Given the description of an element on the screen output the (x, y) to click on. 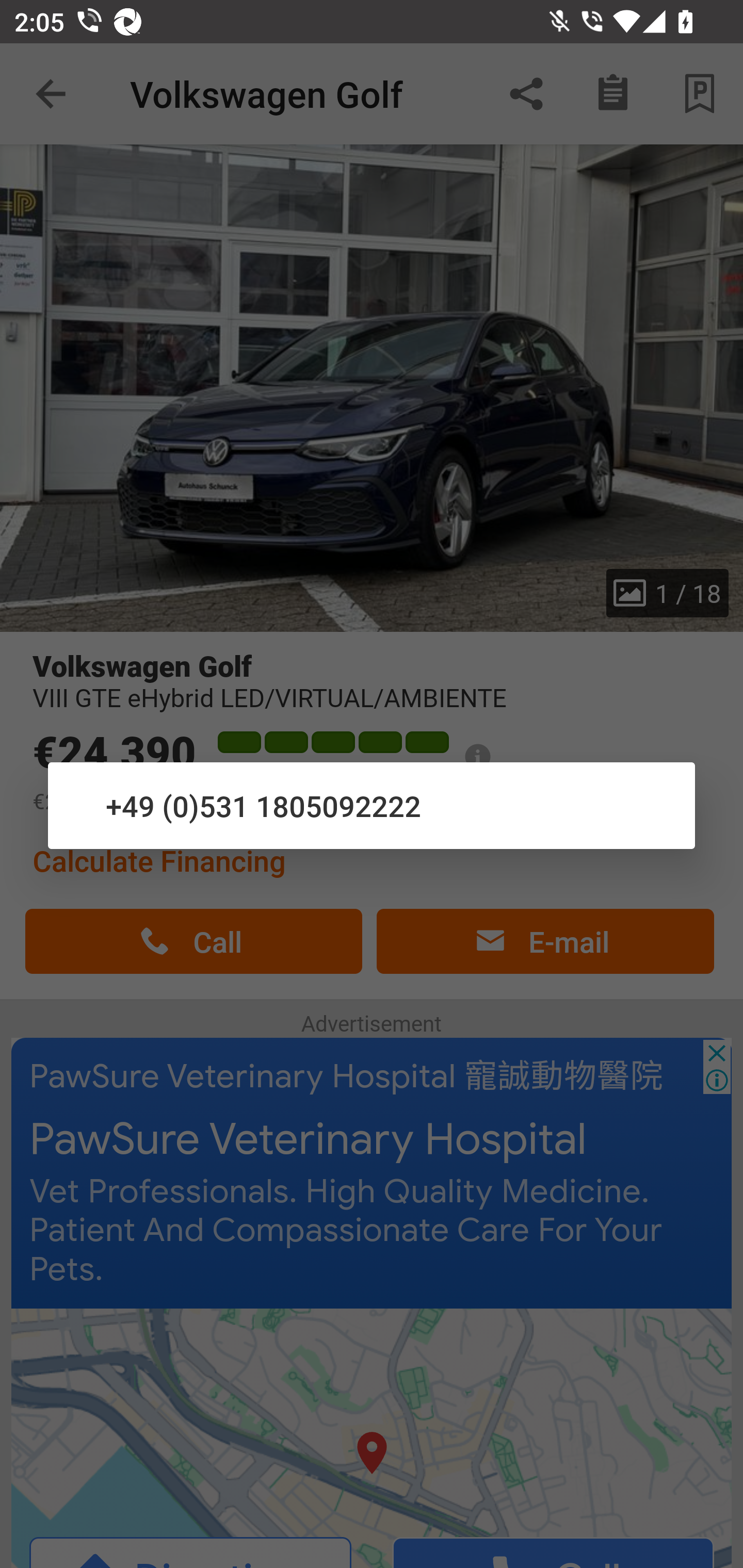
+49 (0)531 1805092222 (371, 805)
